Given the description of an element on the screen output the (x, y) to click on. 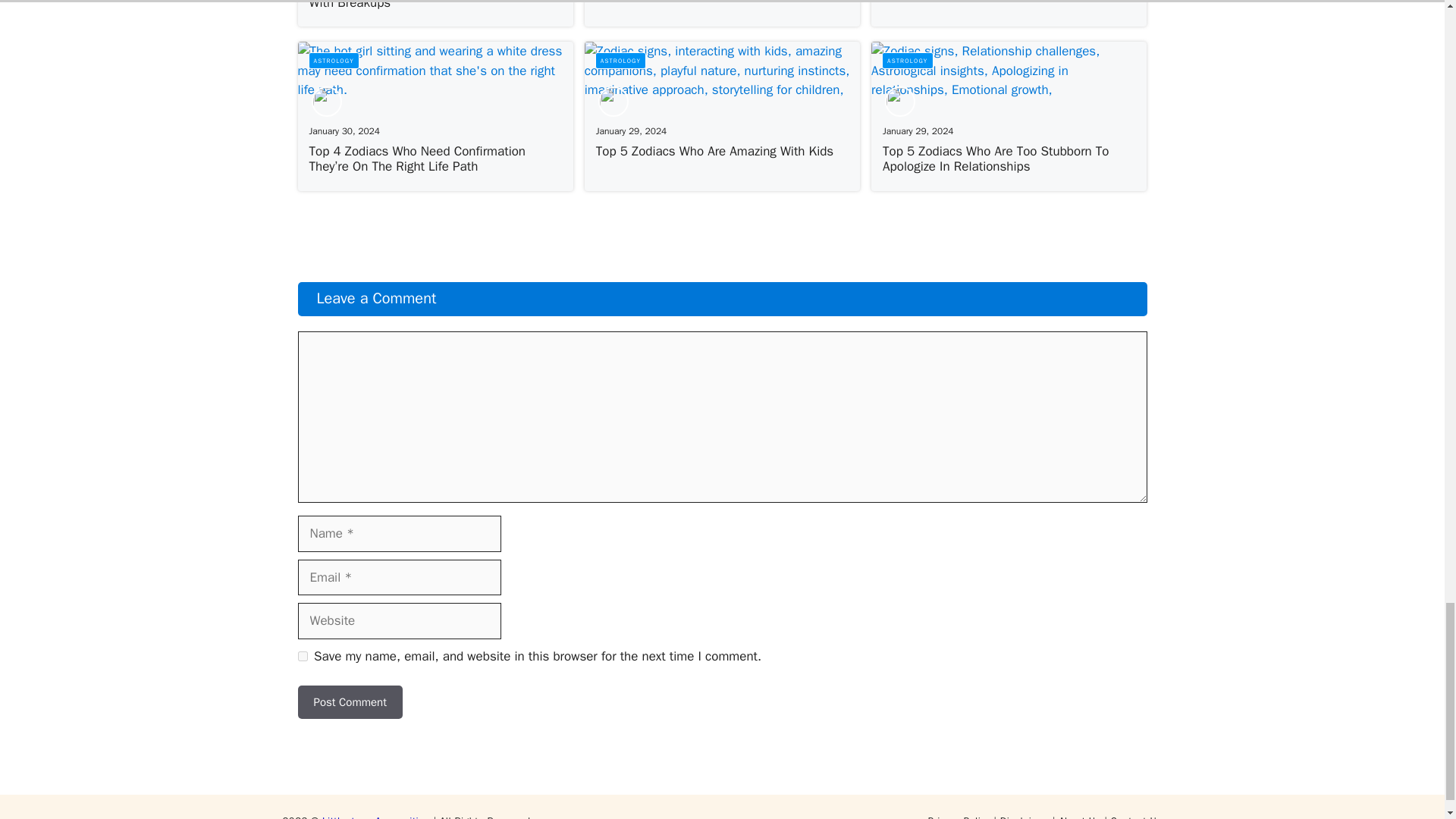
Top 5 Zodiacs Who Have The Hardest Time With Breakups (430, 4)
ASTROLOGY (620, 60)
Post Comment (349, 702)
ASTROLOGY (332, 60)
yes (302, 655)
